Given the description of an element on the screen output the (x, y) to click on. 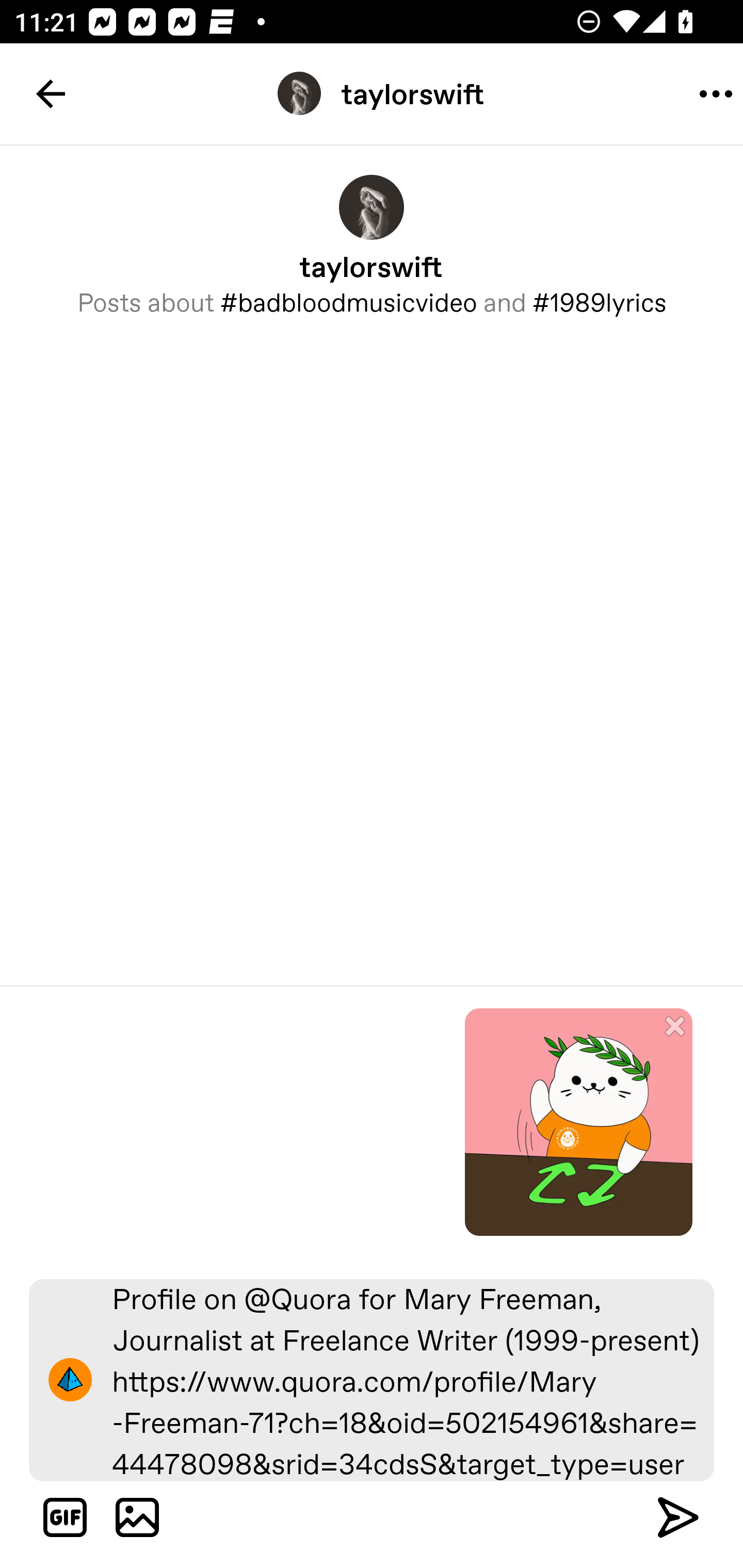
Navigate up (50, 93)
taylorswift (371, 92)
